Given the description of an element on the screen output the (x, y) to click on. 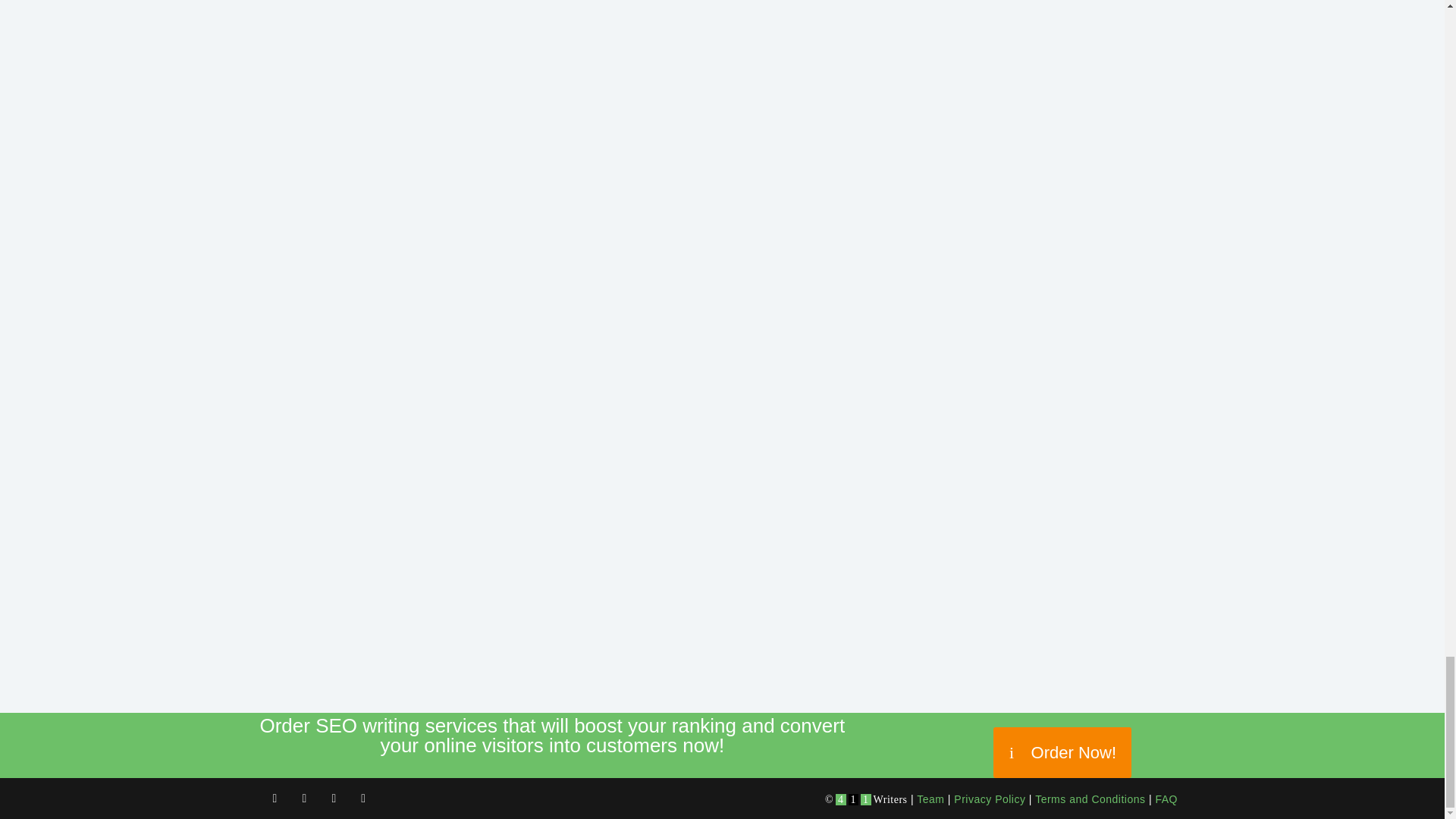
Pinterest (363, 798)
Facebook (275, 798)
Team (930, 799)
Instagram (333, 798)
Twitter (304, 798)
FAQ (1165, 799)
Order Now! (1061, 752)
Terms and Conditions (1089, 799)
Facebook (275, 798)
Privacy Policy (989, 799)
